Given the description of an element on the screen output the (x, y) to click on. 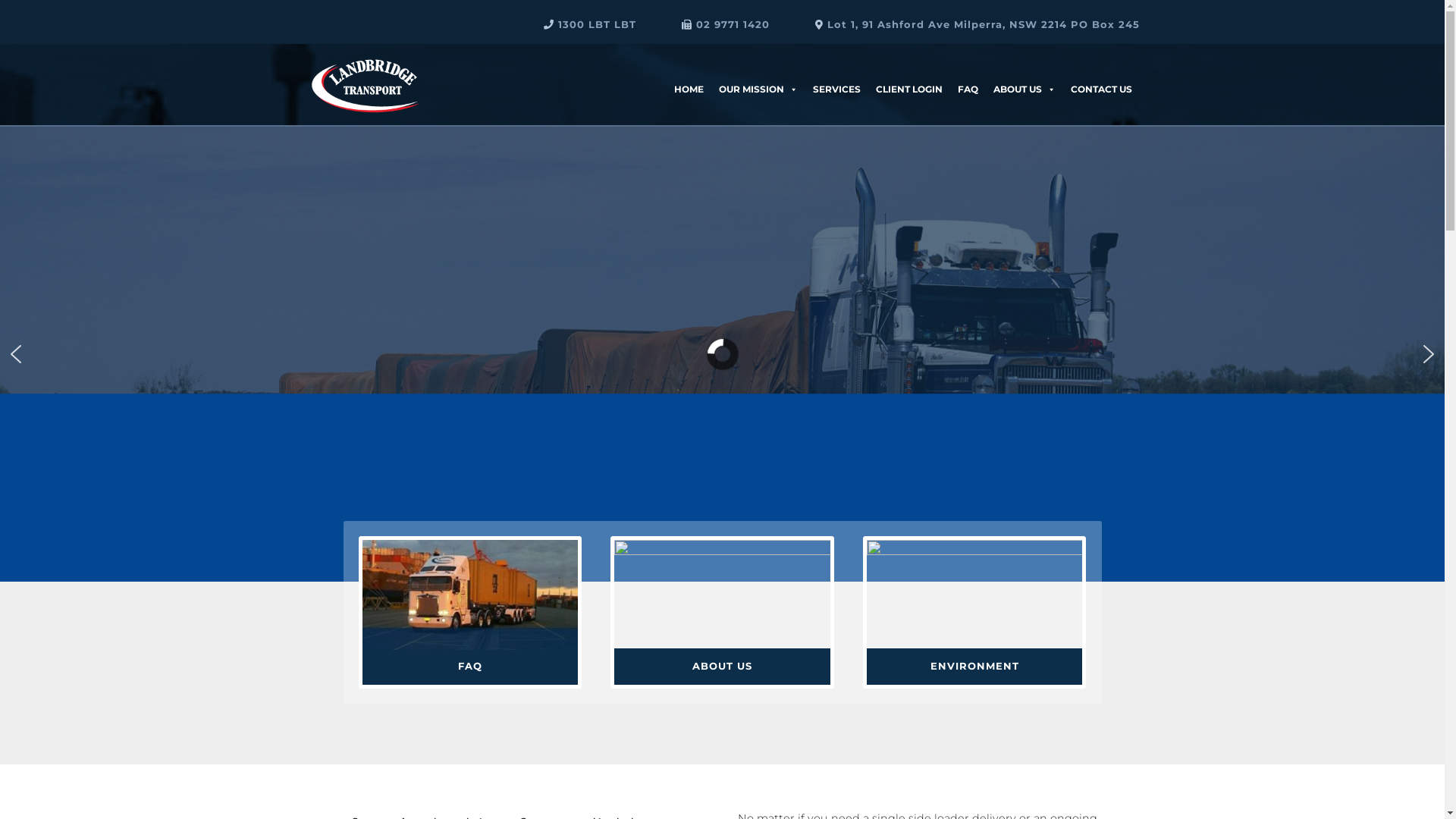
CLIENT LOGIN Element type: text (908, 74)
HOME Element type: text (687, 74)
Read more Element type: text (721, 308)
ENVIRONMENT Element type: text (974, 665)
CONTACT US Element type: text (1101, 74)
OUR MISSION Element type: text (758, 74)
FAQ Element type: text (967, 74)
SERVICES Element type: text (836, 74)
FAQ Element type: text (470, 665)
ABOUT US Element type: text (1024, 74)
ABOUT US Element type: text (722, 665)
